Given the description of an element on the screen output the (x, y) to click on. 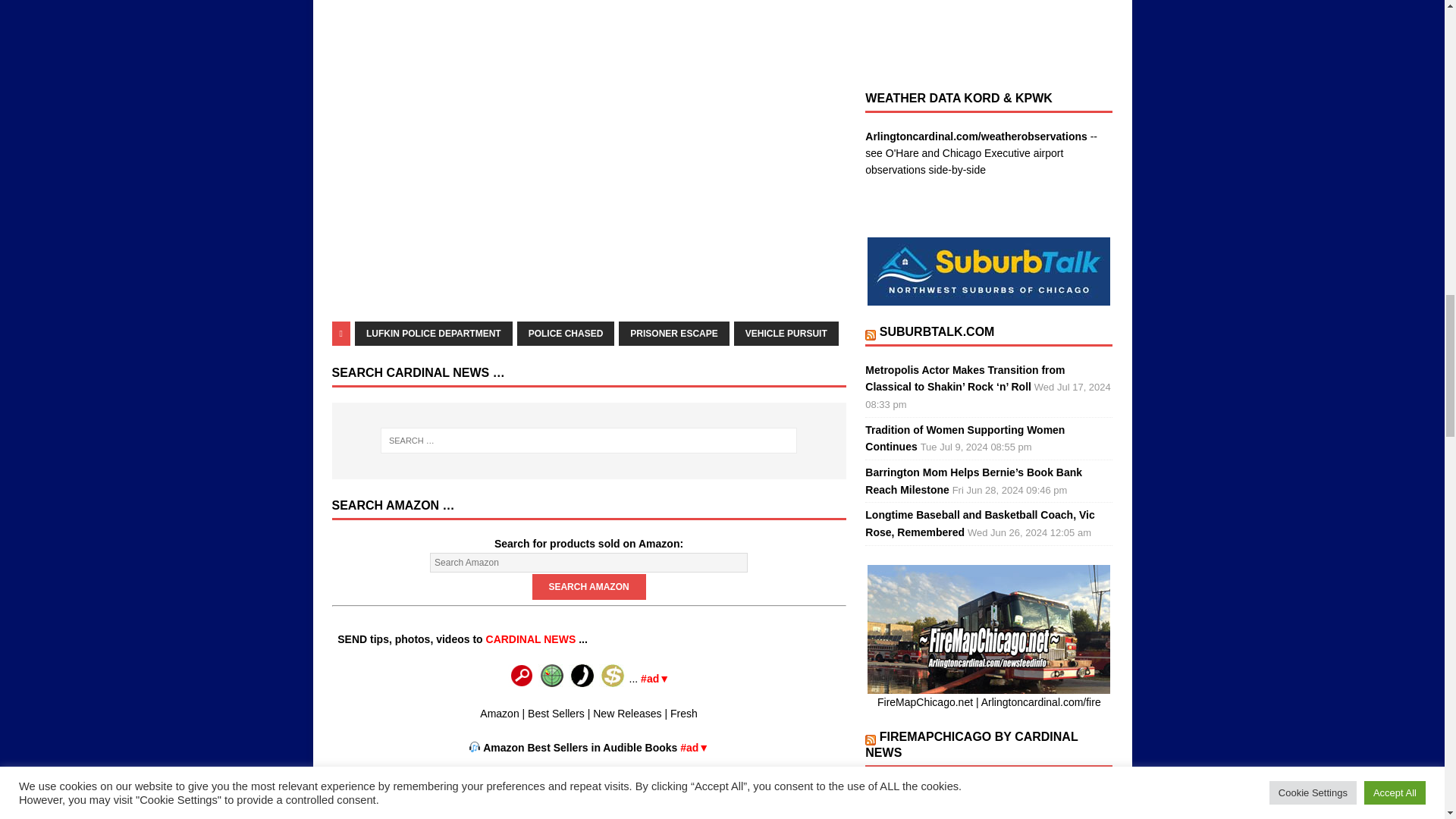
Search Amazon (589, 586)
